Given the description of an element on the screen output the (x, y) to click on. 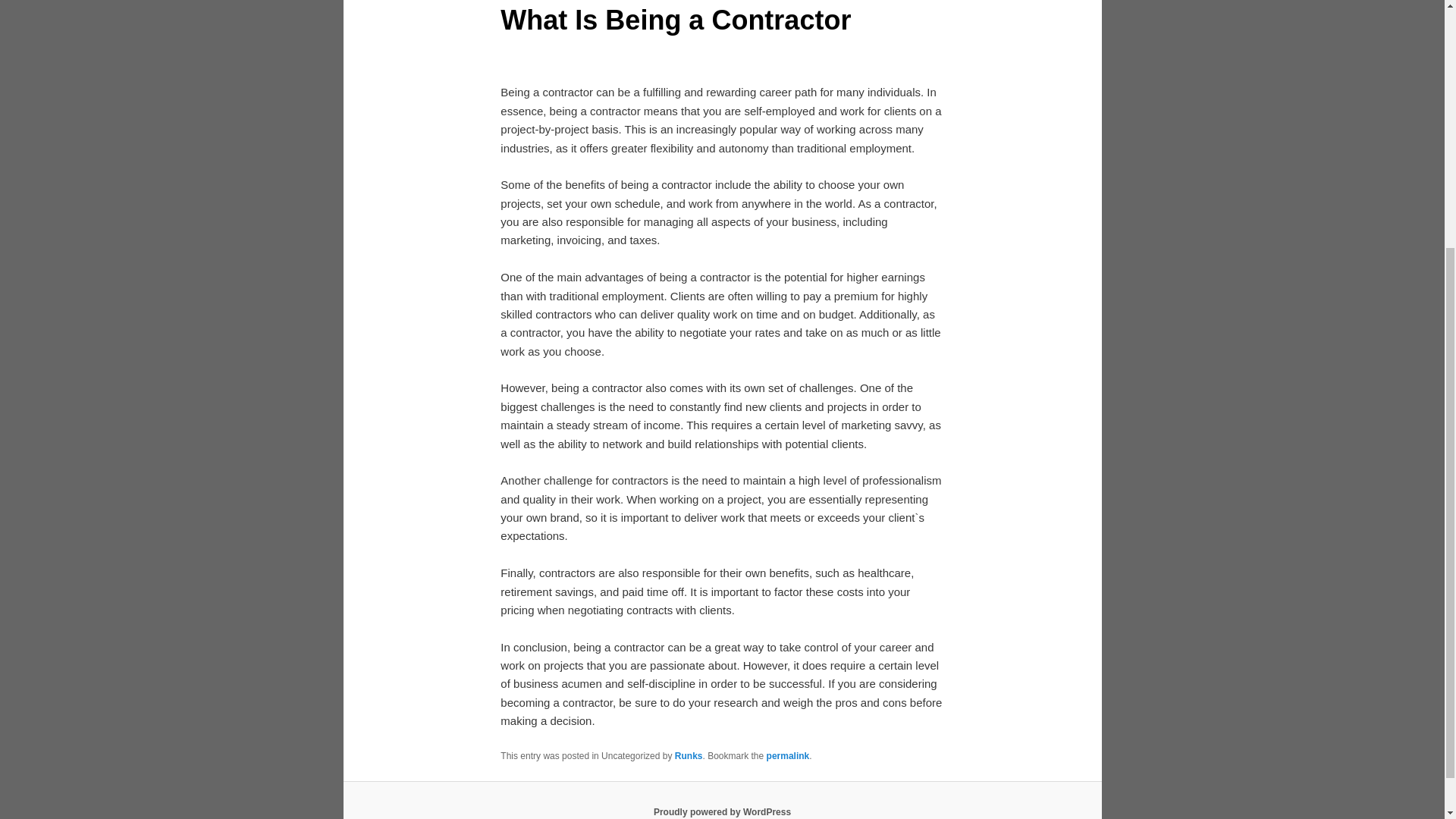
Permalink to What Is Being a Contractor (788, 756)
permalink (788, 756)
Semantic Personal Publishing Platform (721, 811)
Runks (689, 756)
Proudly powered by WordPress (721, 811)
